Given the description of an element on the screen output the (x, y) to click on. 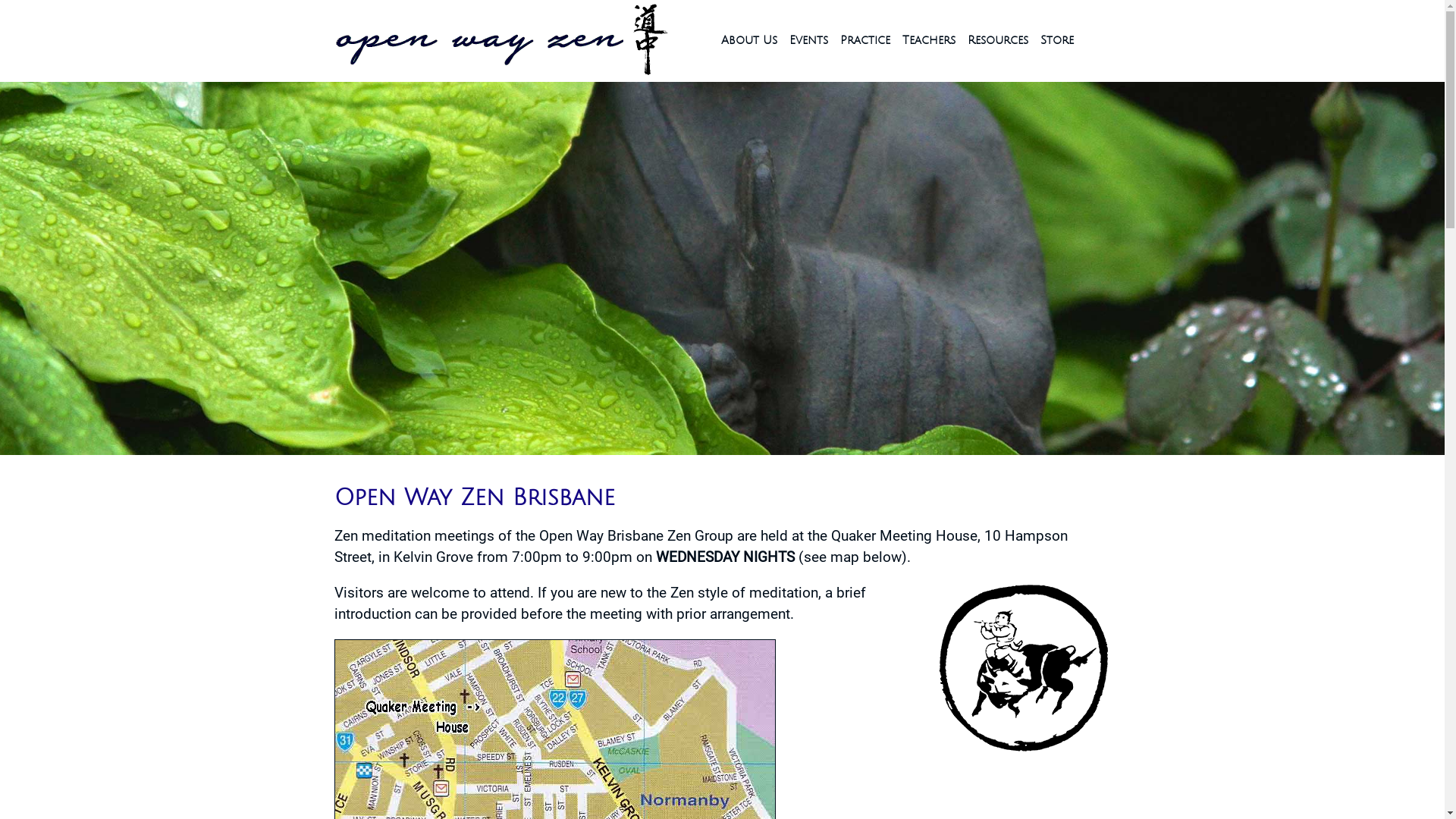
Store Element type: text (1056, 40)
Teachers Element type: text (928, 40)
Events Element type: text (807, 40)
About Us Element type: text (748, 40)
Resources Element type: text (997, 40)
Practice Element type: text (865, 40)
